Given the description of an element on the screen output the (x, y) to click on. 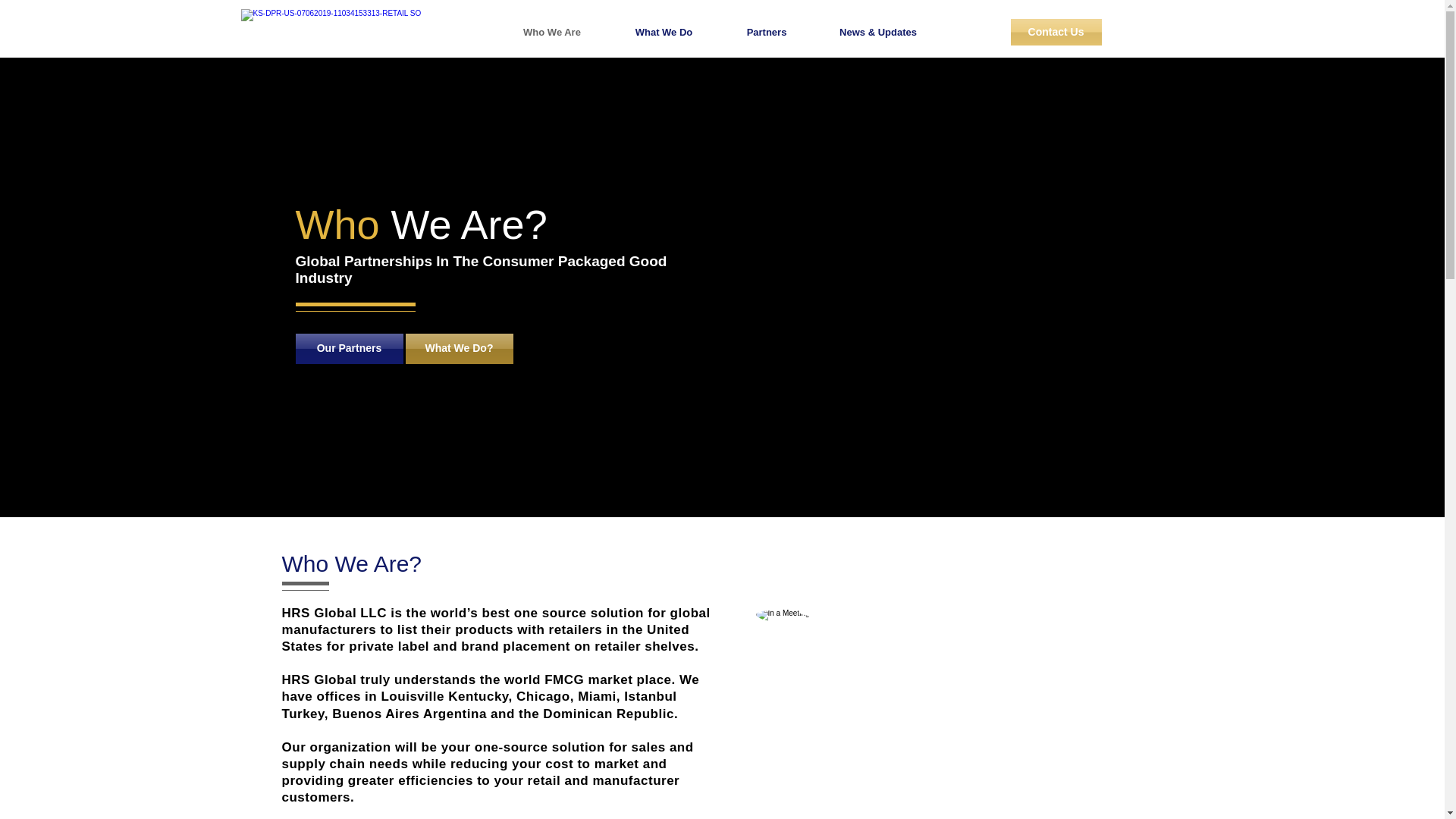
What We Do (664, 31)
Contact Us (1055, 31)
Our Partners (349, 348)
Who We Are (551, 31)
What We Do? (458, 348)
Partners (766, 31)
